Given the description of an element on the screen output the (x, y) to click on. 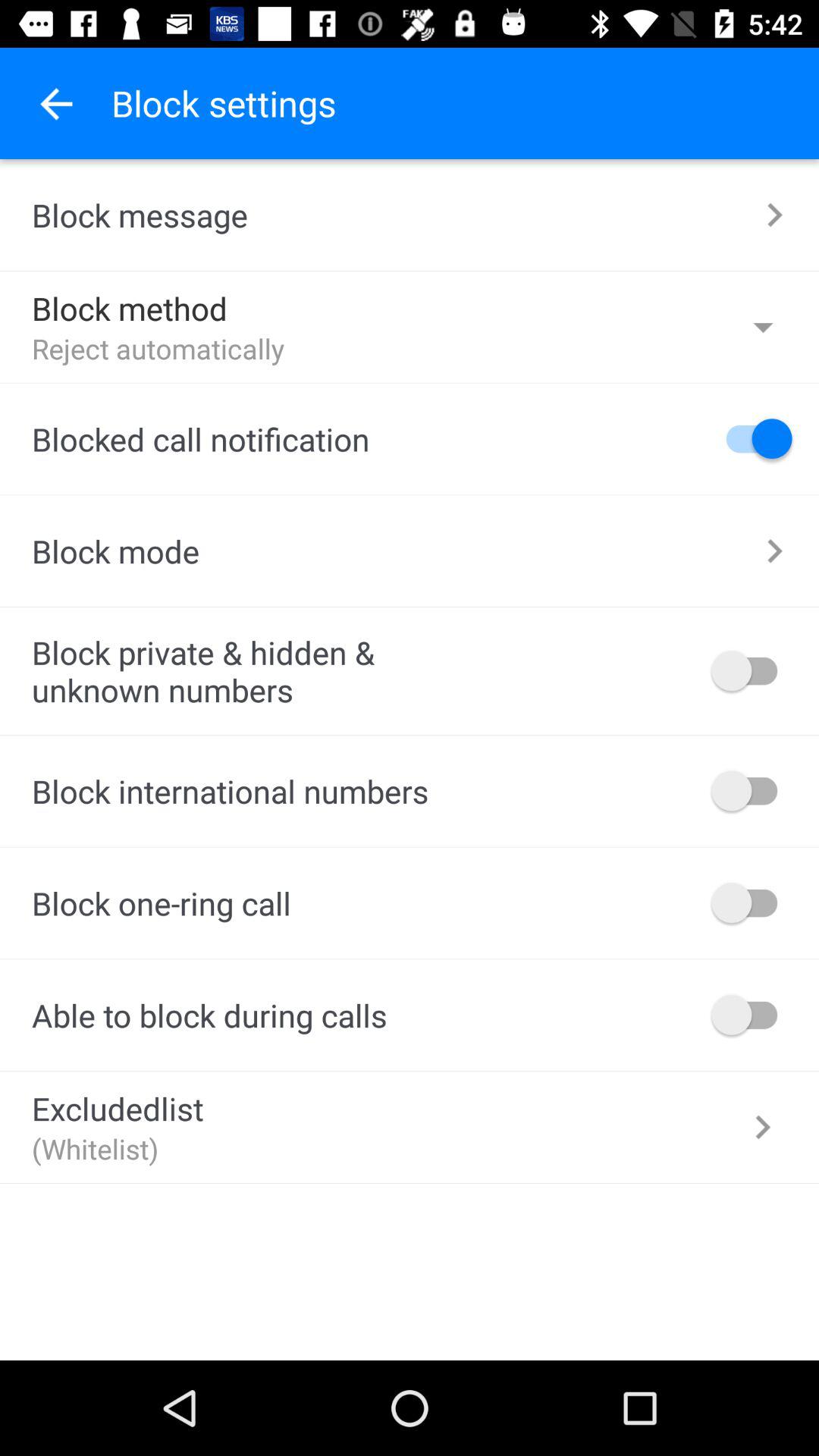
tap item to the left of block settings item (55, 103)
